Given the description of an element on the screen output the (x, y) to click on. 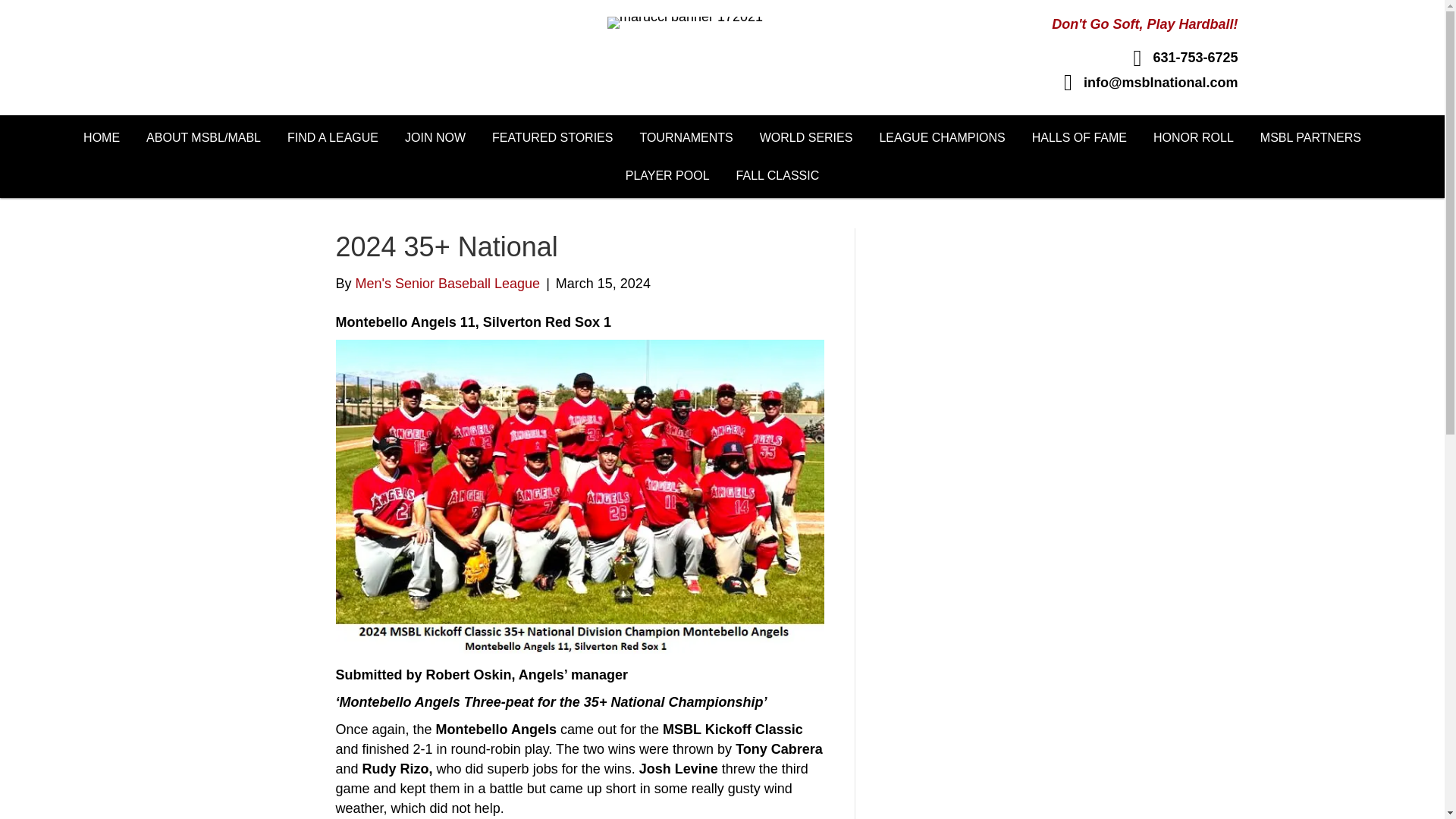
HOME (101, 137)
PLAYER POOL (667, 175)
HONOR ROLL (1192, 137)
JOIN NOW (435, 137)
LEAGUE CHAMPIONS (941, 137)
FIND A LEAGUE (333, 137)
TOURNAMENTS (685, 137)
Men's Senior Baseball League (447, 283)
MSBL PARTNERS (1311, 137)
HALLS OF FAME (1079, 137)
